Given the description of an element on the screen output the (x, y) to click on. 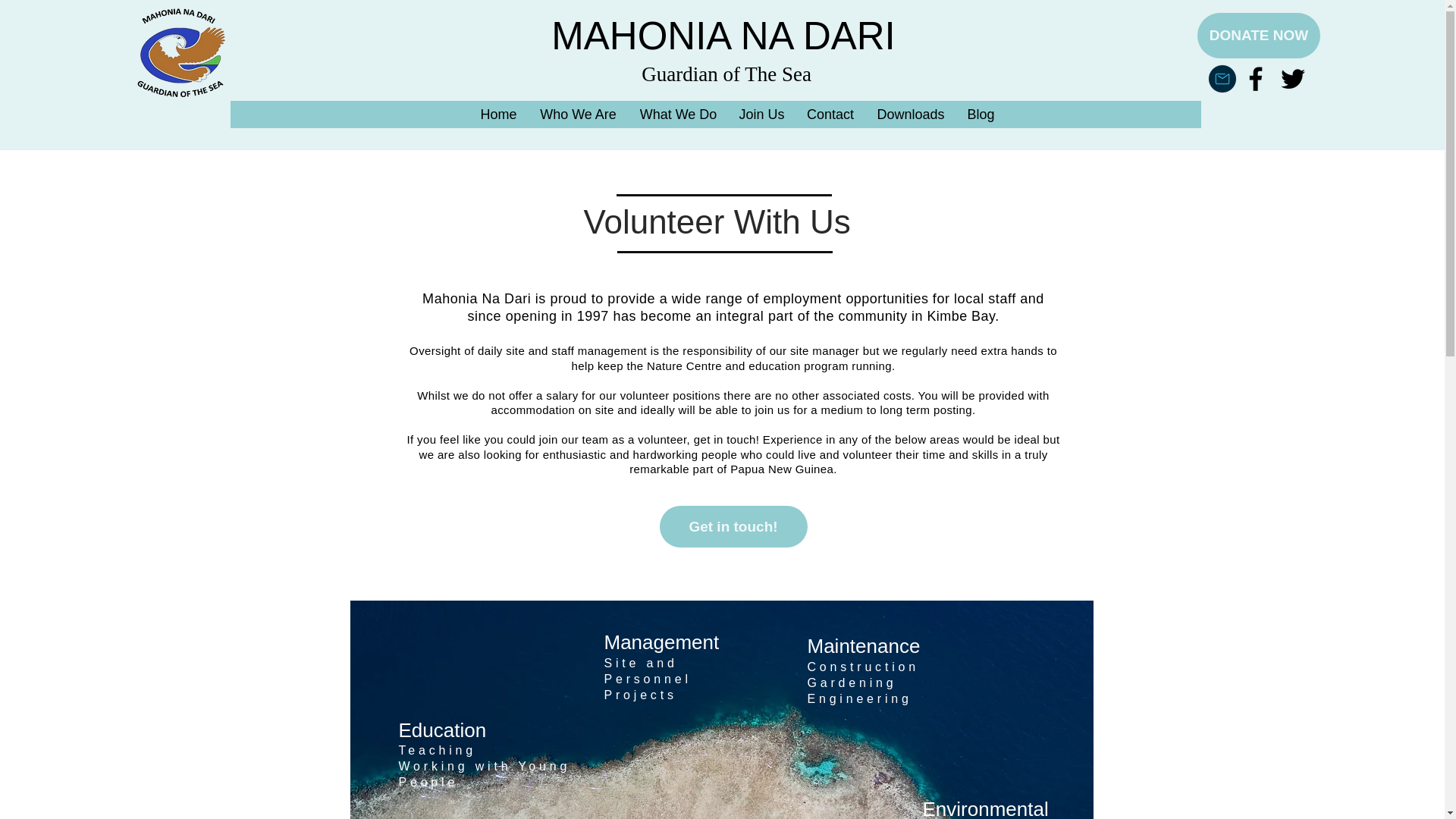
DONATE NOW (1258, 35)
Blog (980, 114)
Home (497, 114)
Get in touch! (733, 526)
MAHONIA NA DARI (723, 35)
Contact (829, 114)
